Given the description of an element on the screen output the (x, y) to click on. 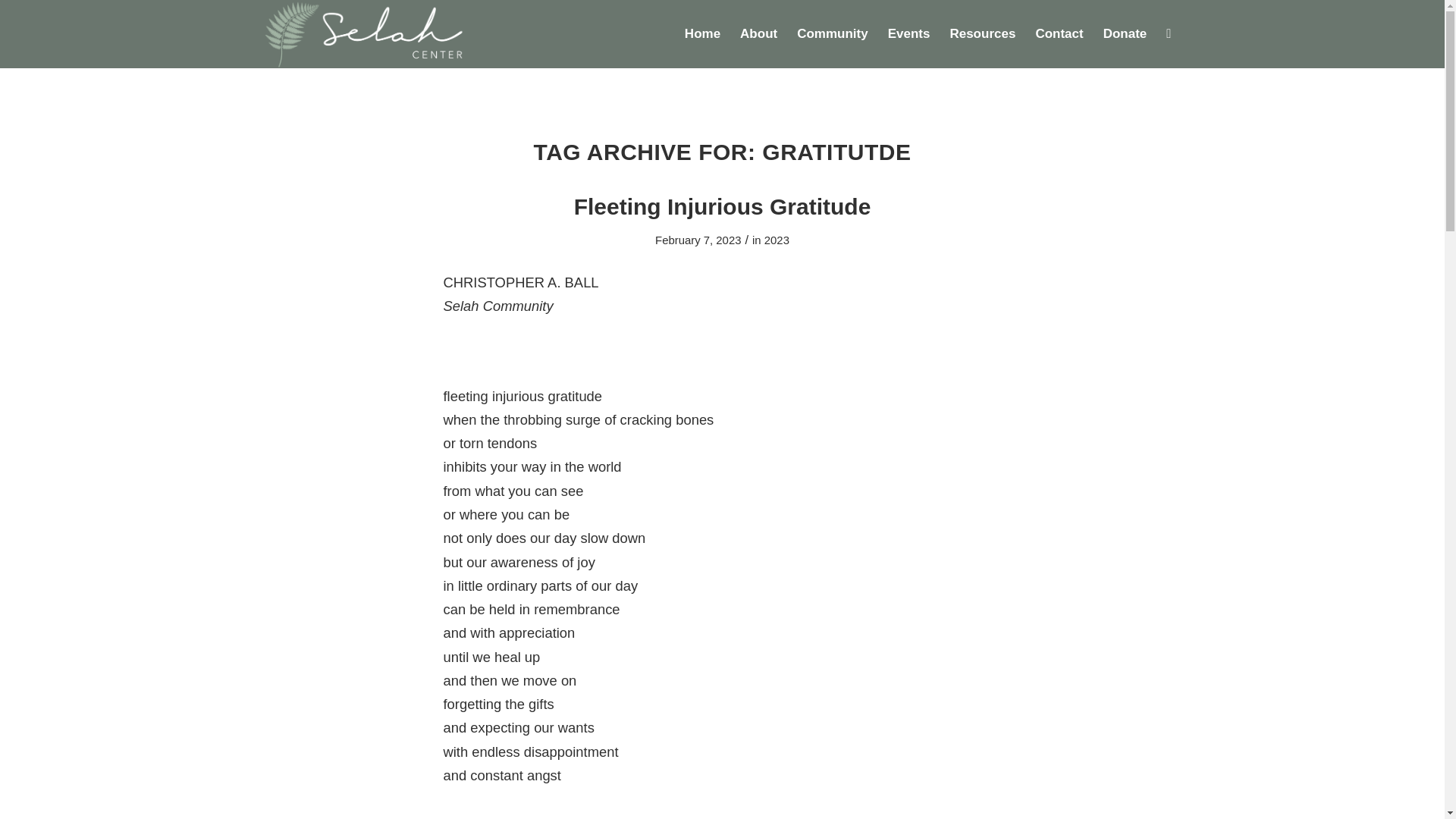
Donate (1125, 33)
2023 (776, 240)
Contact (1059, 33)
Events (908, 33)
Community (832, 33)
Resources (982, 33)
Permanent Link: Fleeting Injurious Gratitude (721, 206)
Fleeting Injurious Gratitude (721, 206)
